Given the description of an element on the screen output the (x, y) to click on. 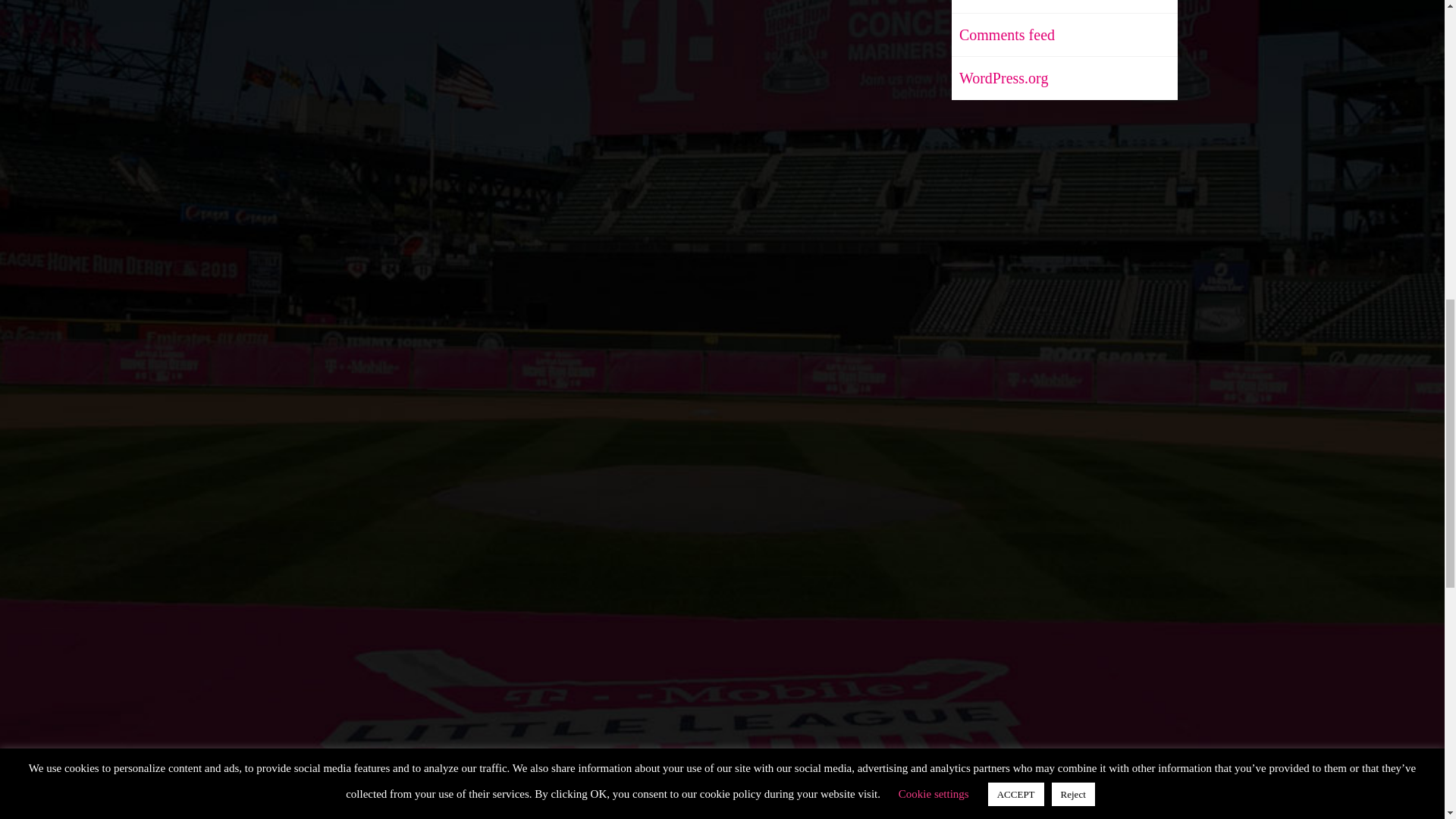
Comments feed (1003, 34)
WordPress.org (1000, 77)
